Given the description of an element on the screen output the (x, y) to click on. 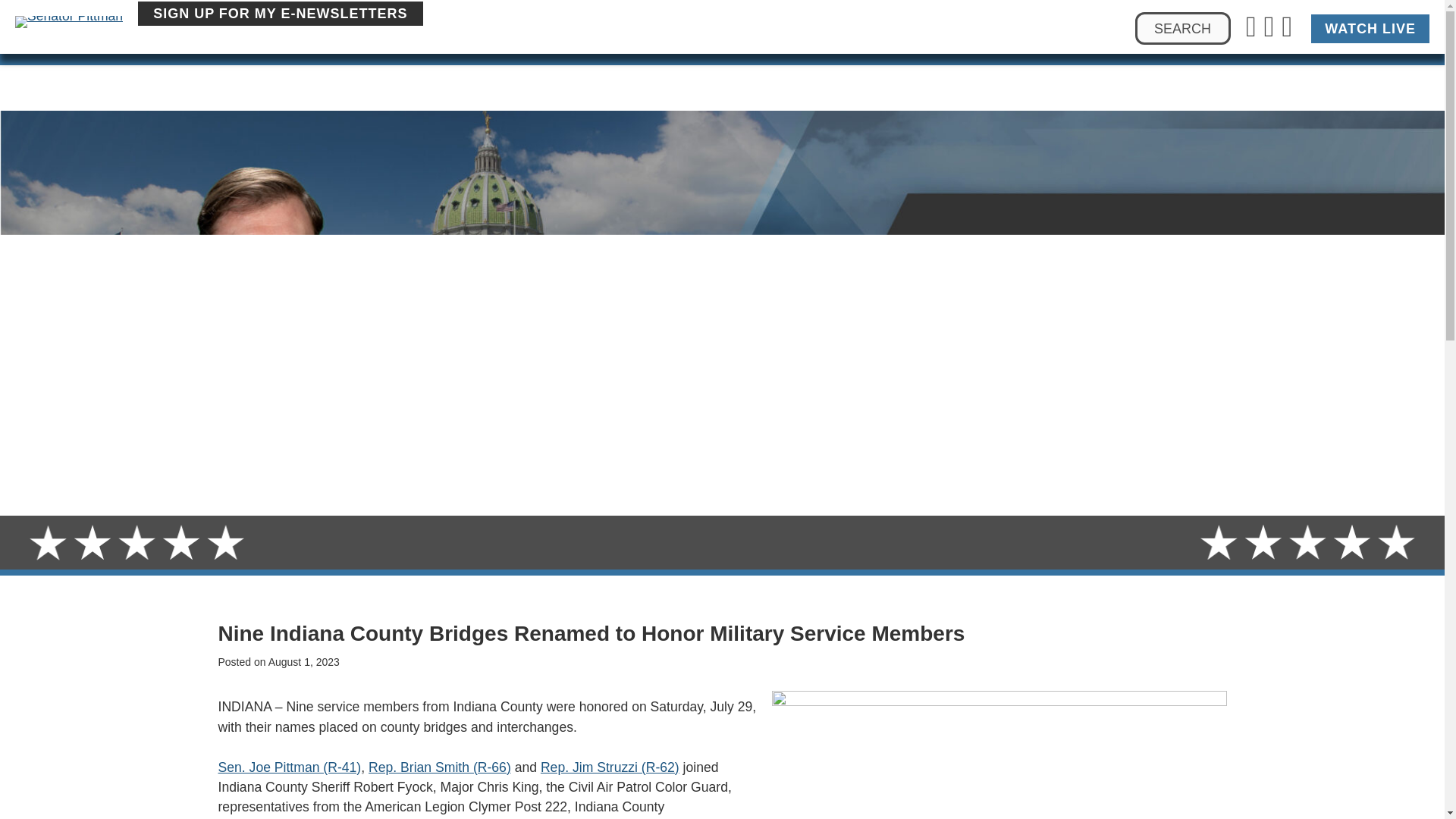
LEGISLATION (784, 87)
NEWS (692, 74)
ABOUT (495, 63)
SERVICES (891, 87)
Search for: (1182, 28)
About (495, 87)
HOME (424, 62)
41ST DISTRICT (595, 63)
CONTACT ME (996, 87)
Legislation (784, 87)
Services (891, 87)
WATCH LIVE (1410, 12)
